Given the description of an element on the screen output the (x, y) to click on. 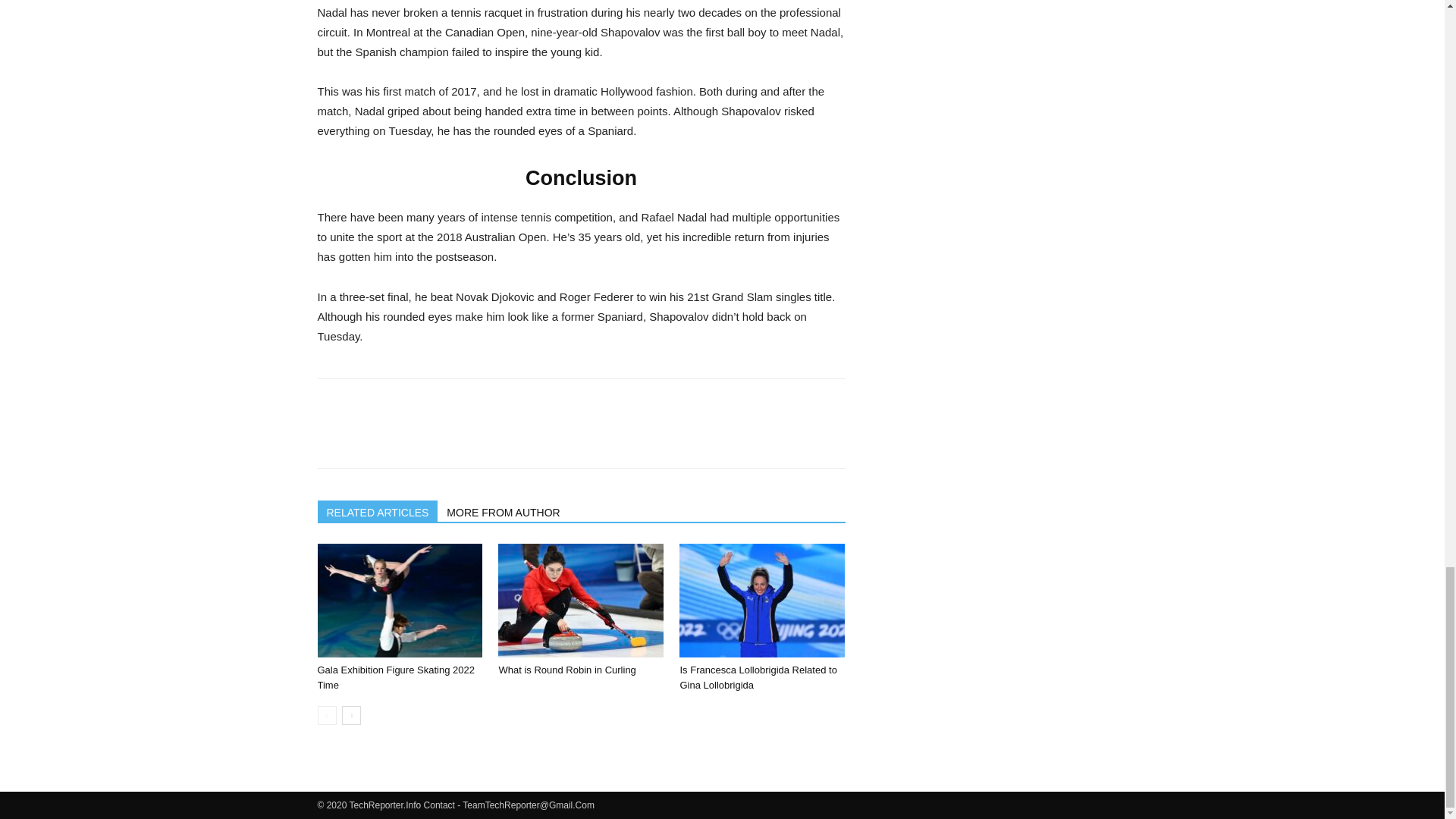
Gala Exhibition Figure Skating 2022 Time (395, 677)
Is Francesca Lollobrigida Related to Gina Lollobrigida (761, 600)
Is Francesca Lollobrigida Related to Gina Lollobrigida (757, 677)
What is Round Robin in Curling (580, 600)
Gala Exhibition Figure Skating 2022 Time (399, 600)
RELATED ARTICLES (377, 510)
What is Round Robin in Curling (565, 669)
